Given the description of an element on the screen output the (x, y) to click on. 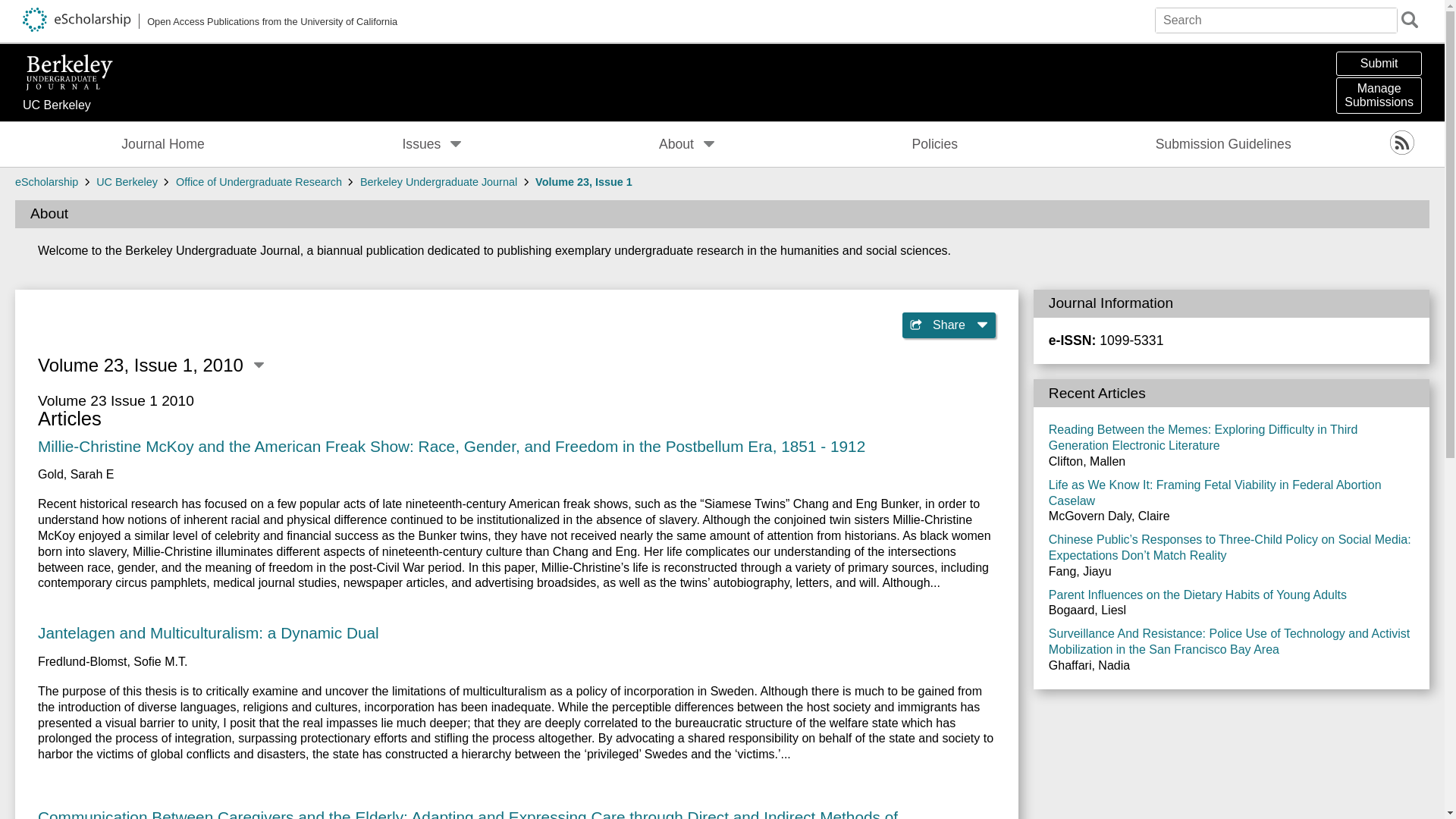
Submit (1379, 63)
Journal Home (1379, 94)
UC Berkeley (162, 143)
Open Access Publications from the University of California (74, 105)
